Given the description of an element on the screen output the (x, y) to click on. 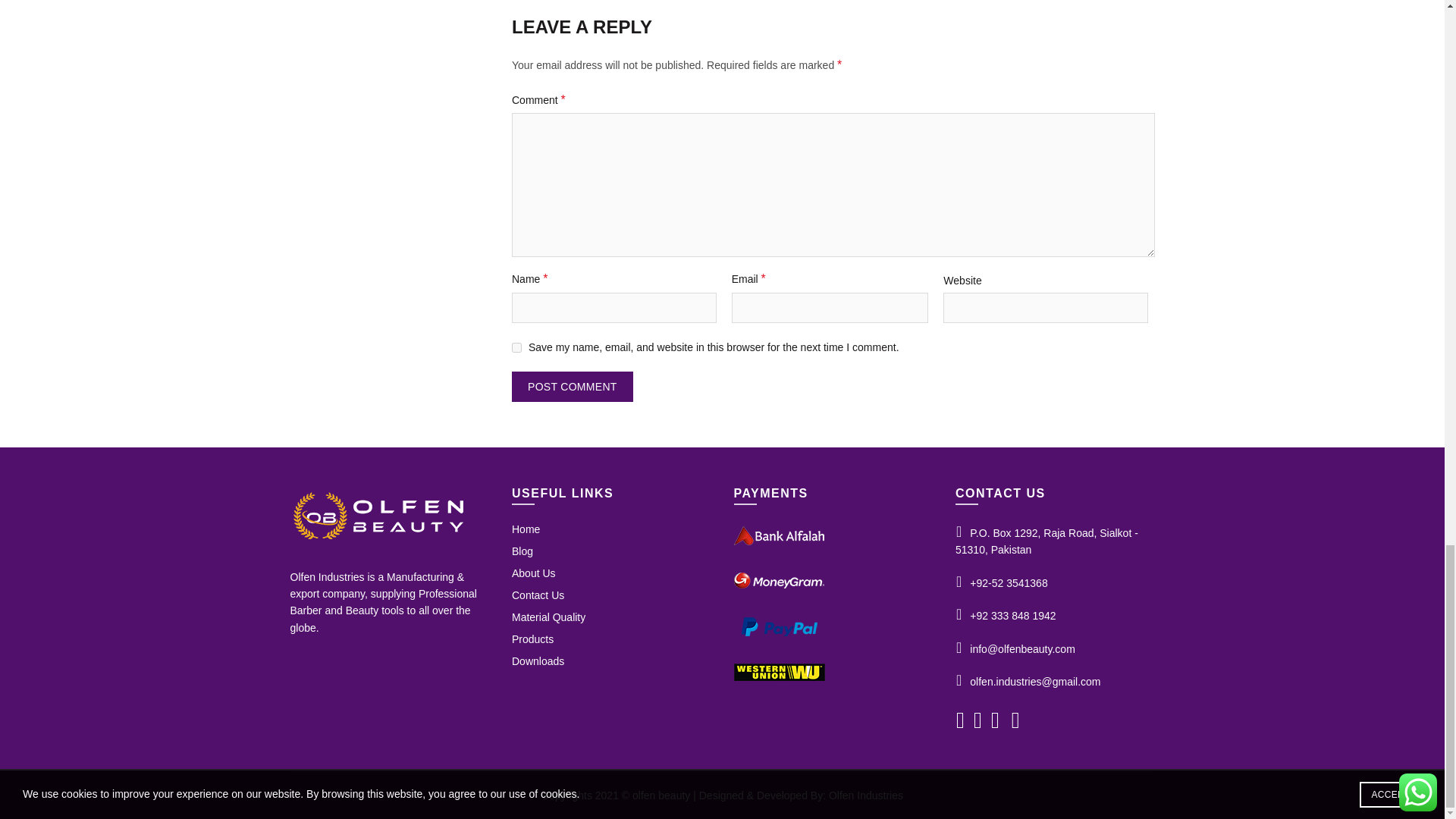
yes (516, 347)
Post Comment (572, 386)
